Given the description of an element on the screen output the (x, y) to click on. 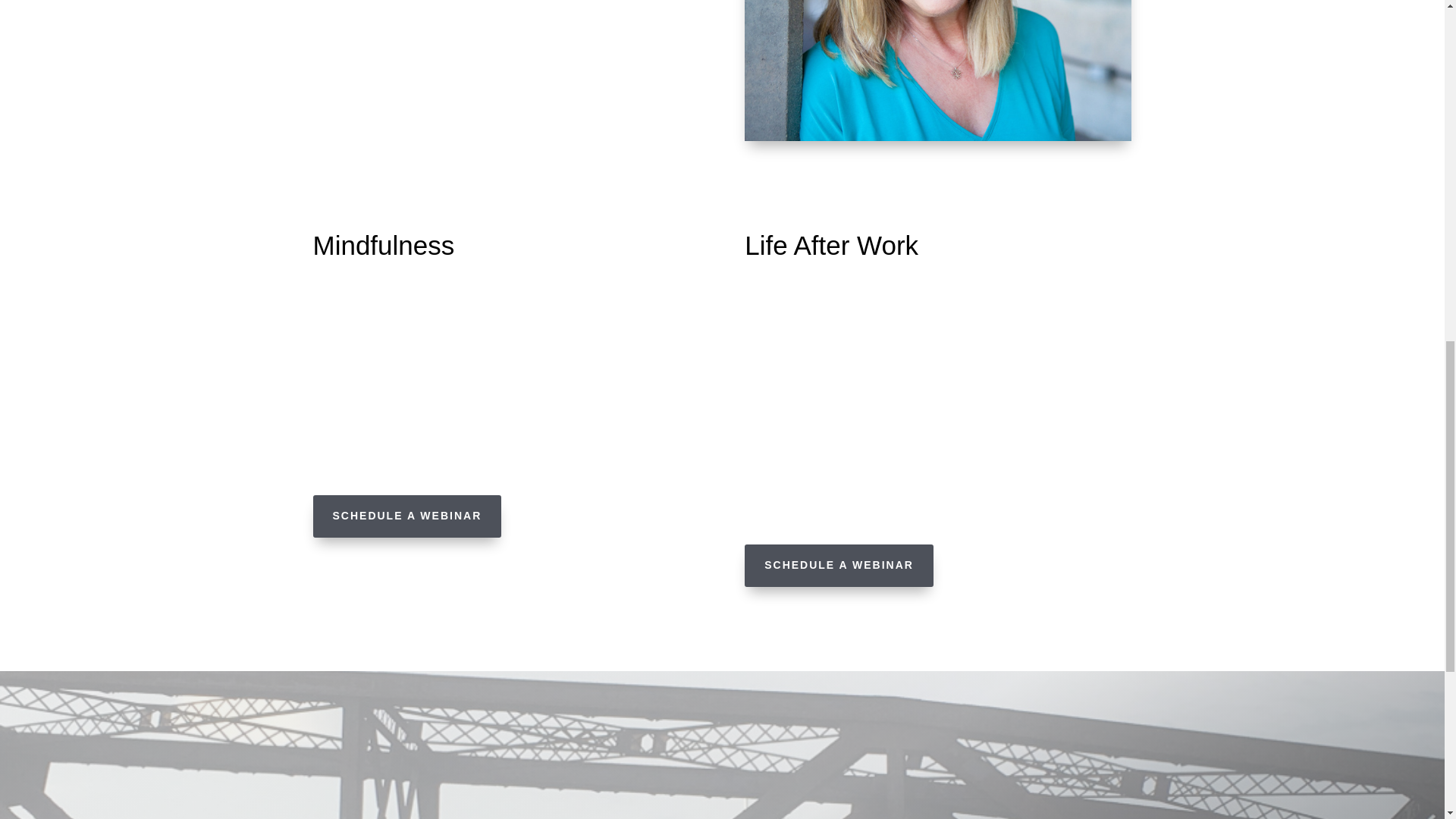
yasemin2 (937, 70)
SCHEDULE A WEBINAR (406, 516)
SCHEDULE A WEBINAR (838, 565)
